Given the description of an element on the screen output the (x, y) to click on. 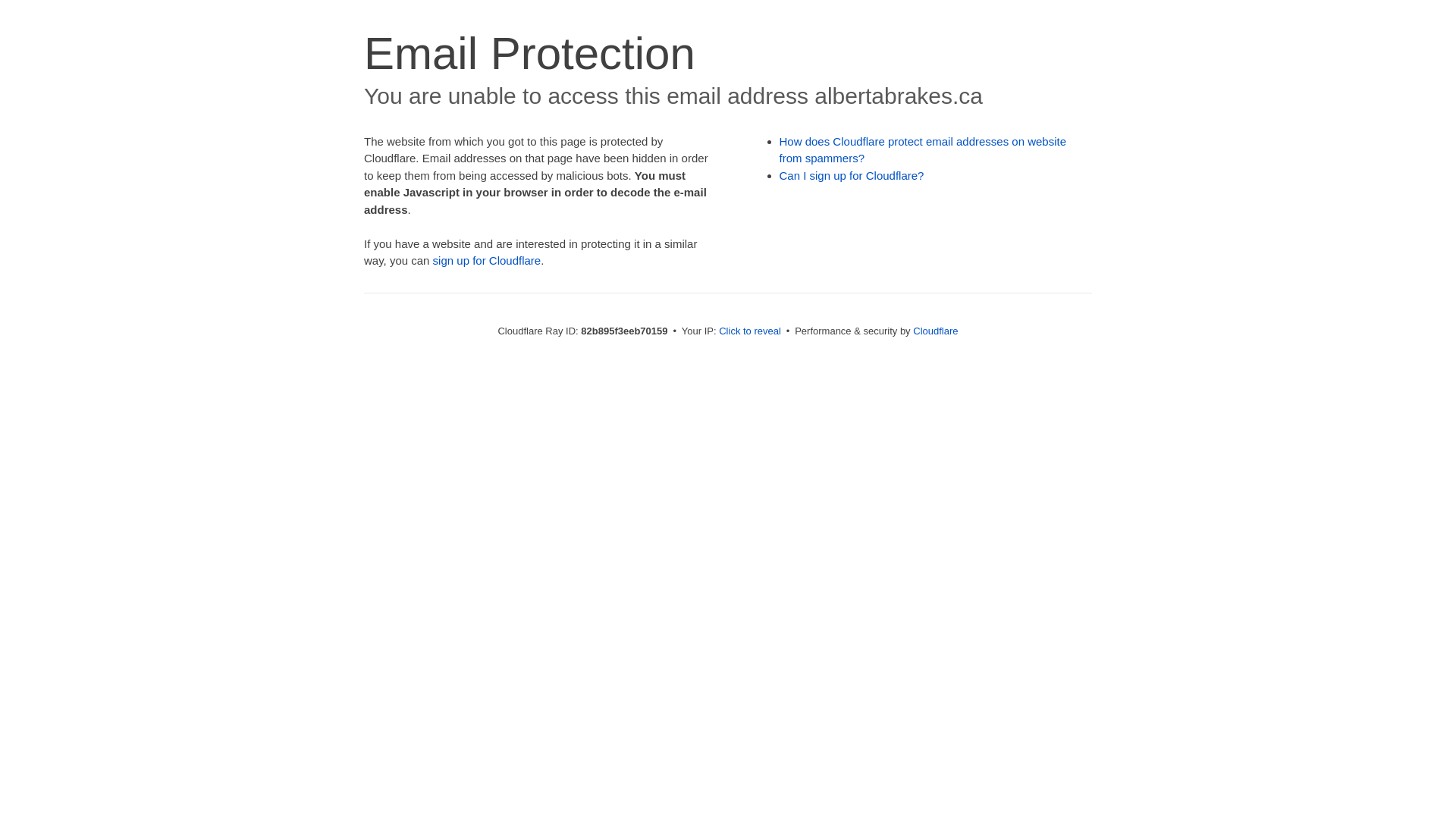
Cloudflare Element type: text (935, 330)
Click to reveal Element type: text (749, 330)
Can I sign up for Cloudflare? Element type: text (851, 175)
sign up for Cloudflare Element type: text (487, 260)
